Given the description of an element on the screen output the (x, y) to click on. 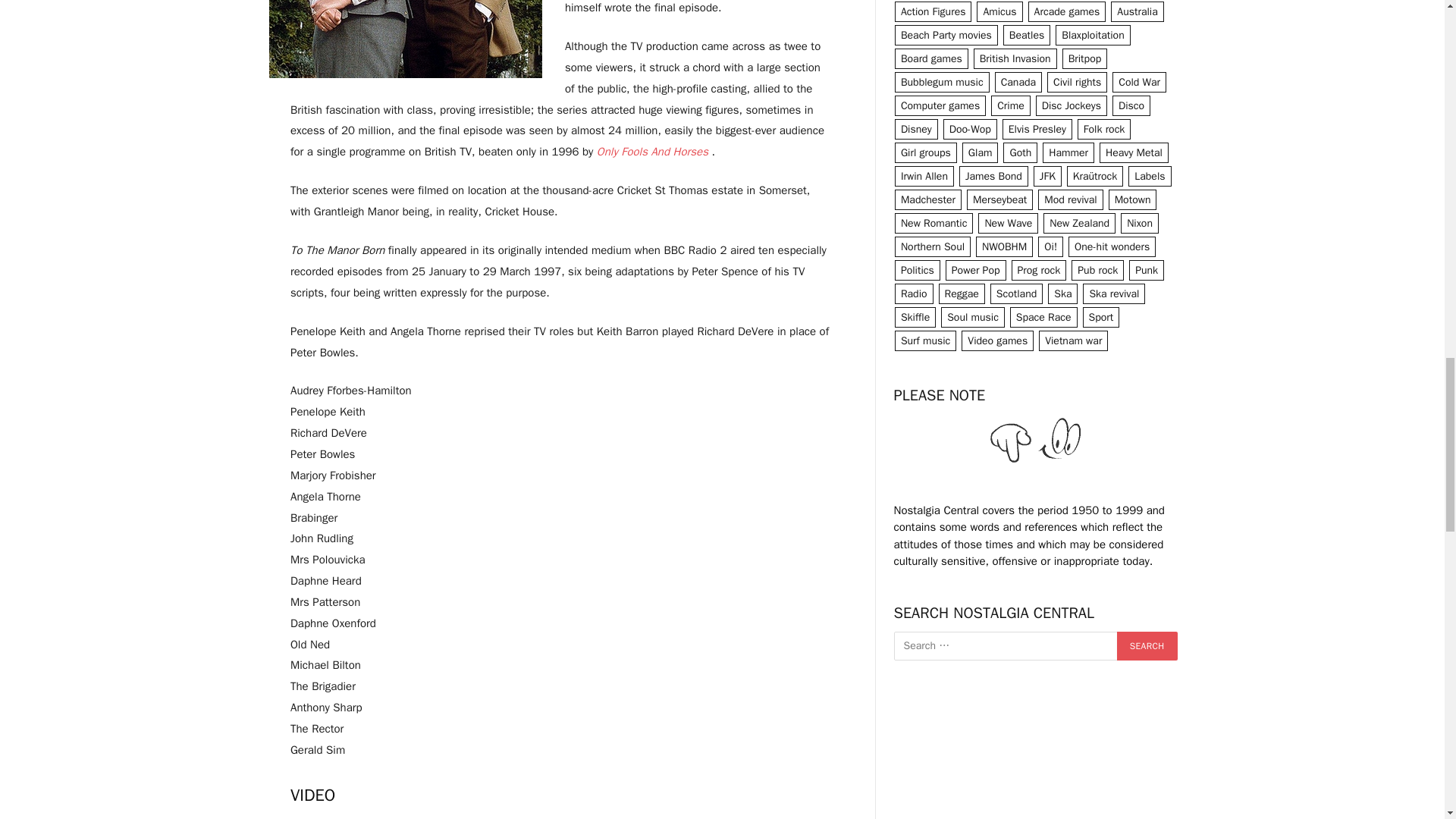
Search (1146, 645)
Only Fools and Horses (651, 151)
Search (1146, 645)
